Given the description of an element on the screen output the (x, y) to click on. 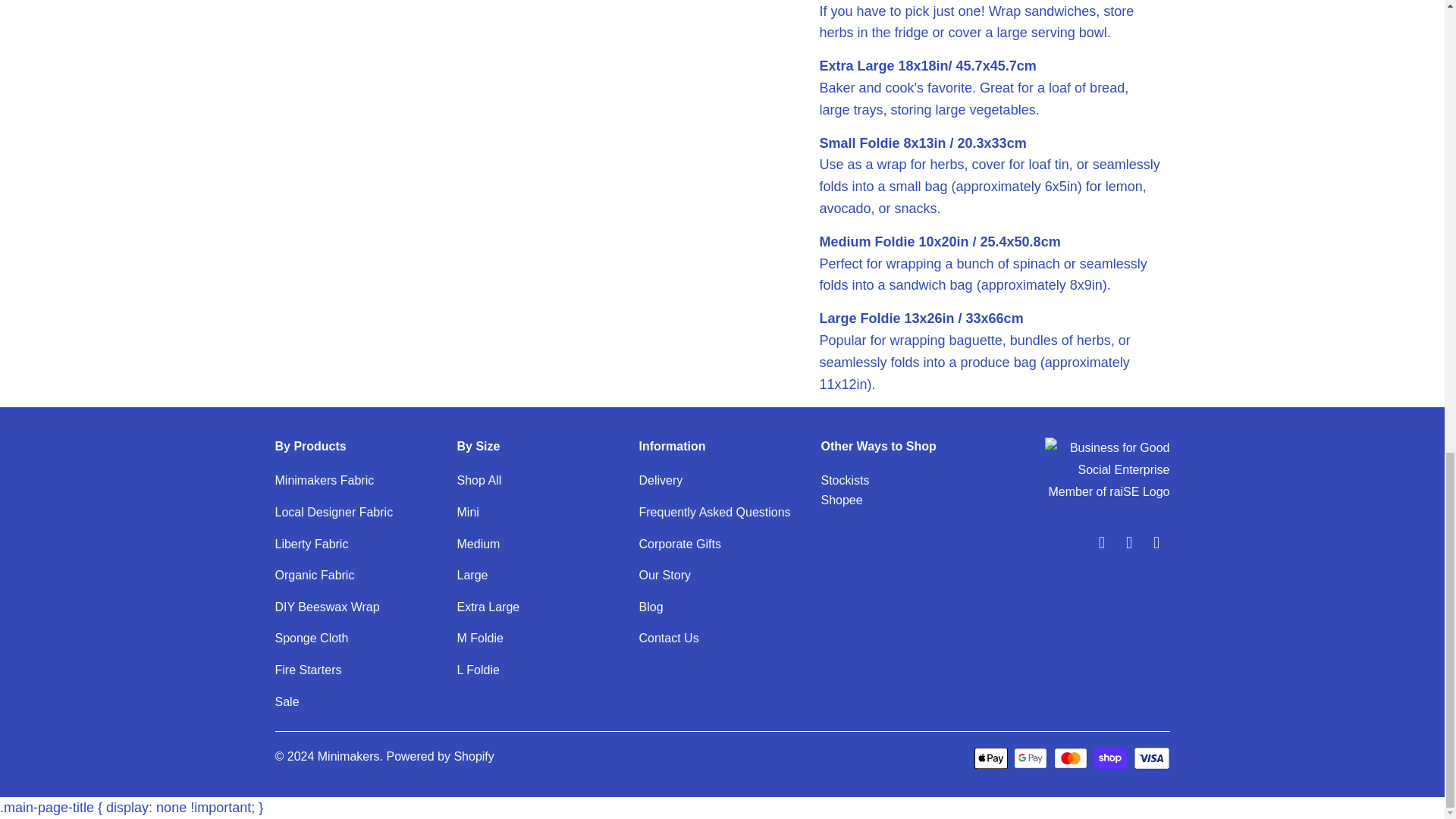
Google Pay (1031, 757)
Partnerships (845, 480)
Apple Pay (992, 757)
Visa (1150, 757)
Shop Pay (1111, 757)
Mastercard (1072, 757)
